Given the description of an element on the screen output the (x, y) to click on. 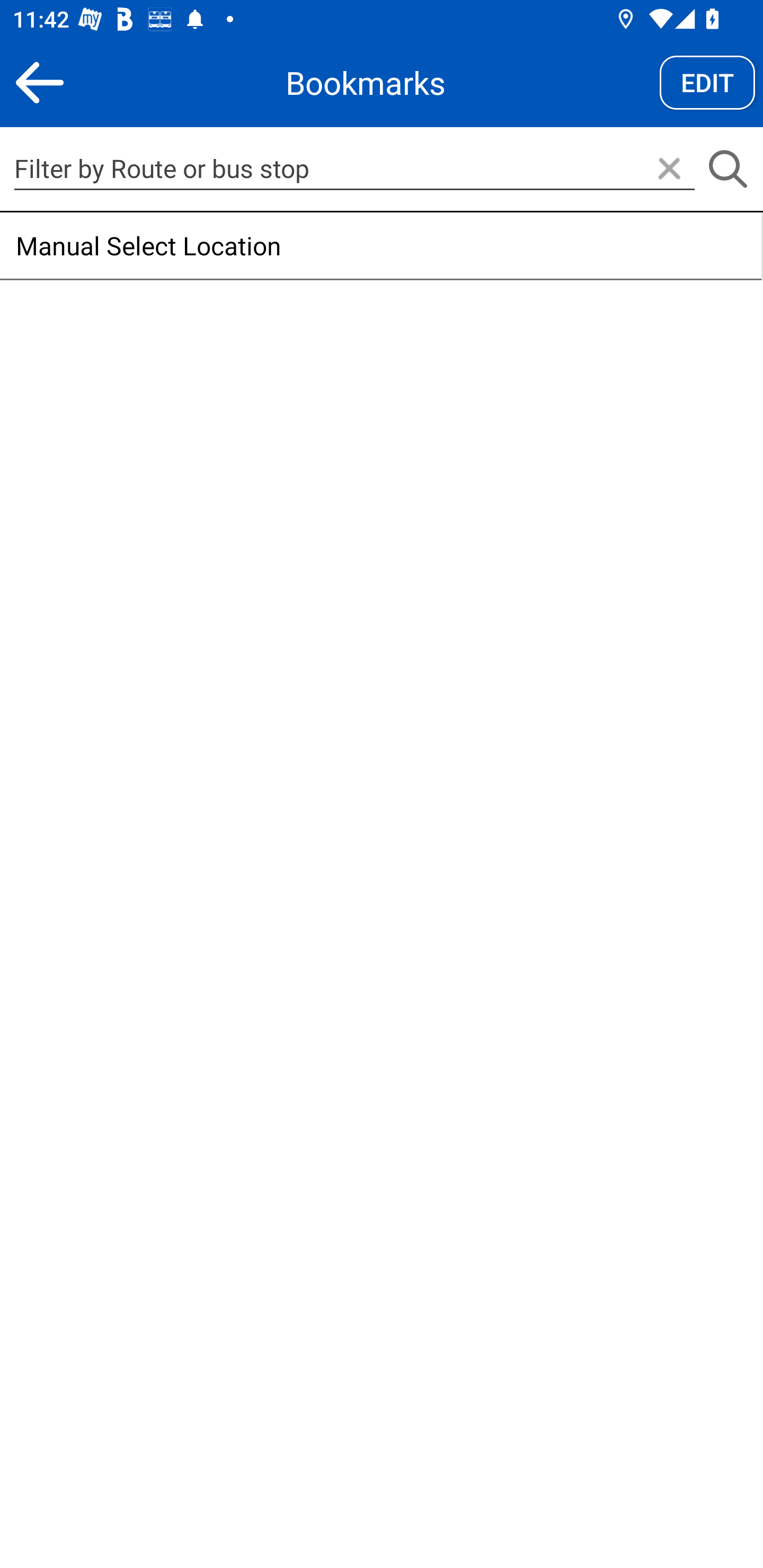
Back (39, 82)
EDIT Edit (707, 81)
Filter by Route or bus stop (354, 168)
Search (727, 169)
Clear (669, 169)
Manual Select Location (380, 245)
